Given the description of an element on the screen output the (x, y) to click on. 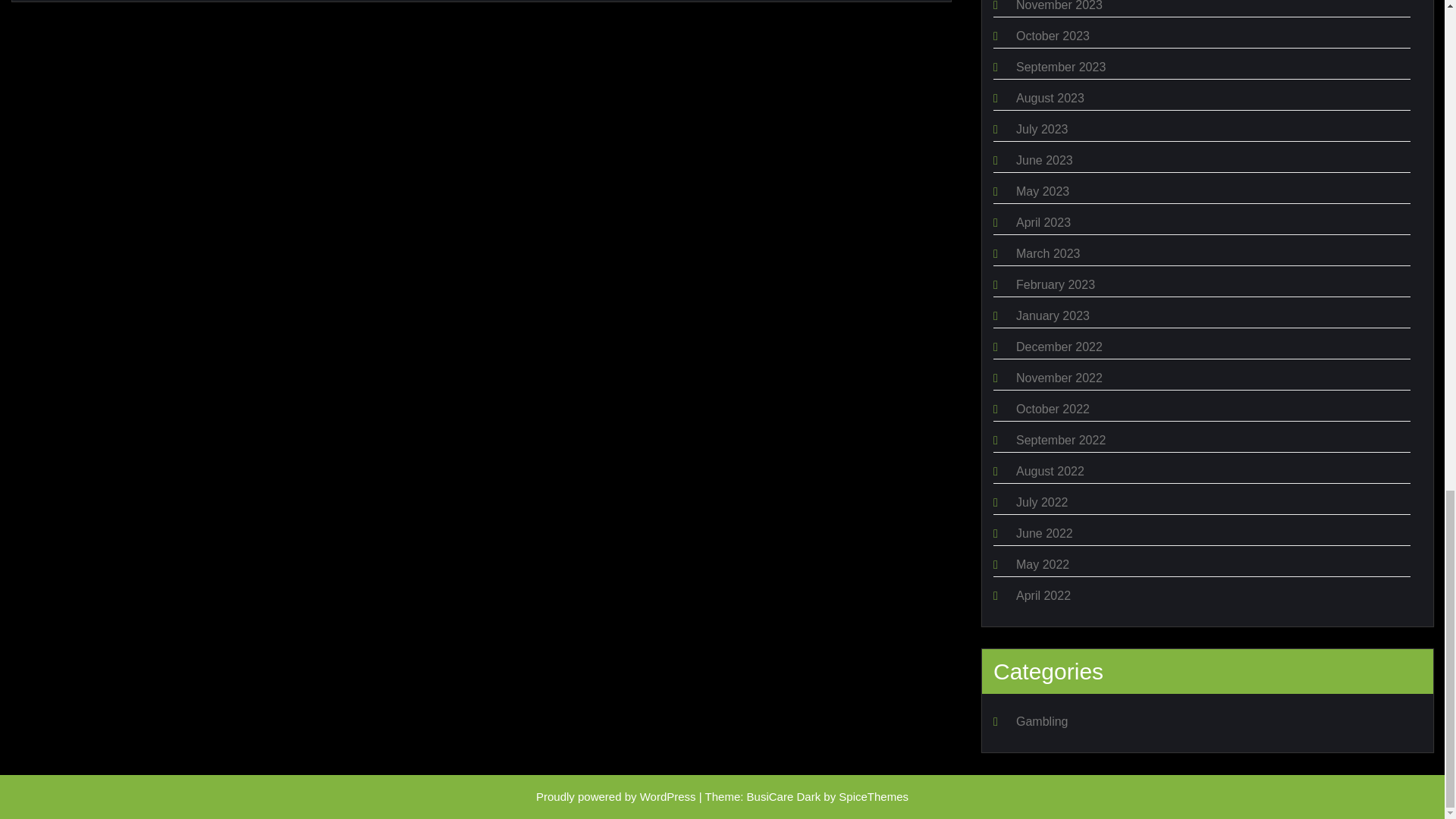
June 2023 (1044, 160)
April 2023 (1043, 222)
May 2023 (1042, 191)
October 2023 (1052, 35)
September 2023 (1060, 66)
November 2022 (1059, 377)
December 2022 (1059, 346)
November 2023 (1059, 5)
March 2023 (1048, 253)
January 2023 (1052, 315)
August 2023 (1050, 97)
February 2023 (1055, 284)
October 2022 (1052, 408)
July 2023 (1042, 128)
